Given the description of an element on the screen output the (x, y) to click on. 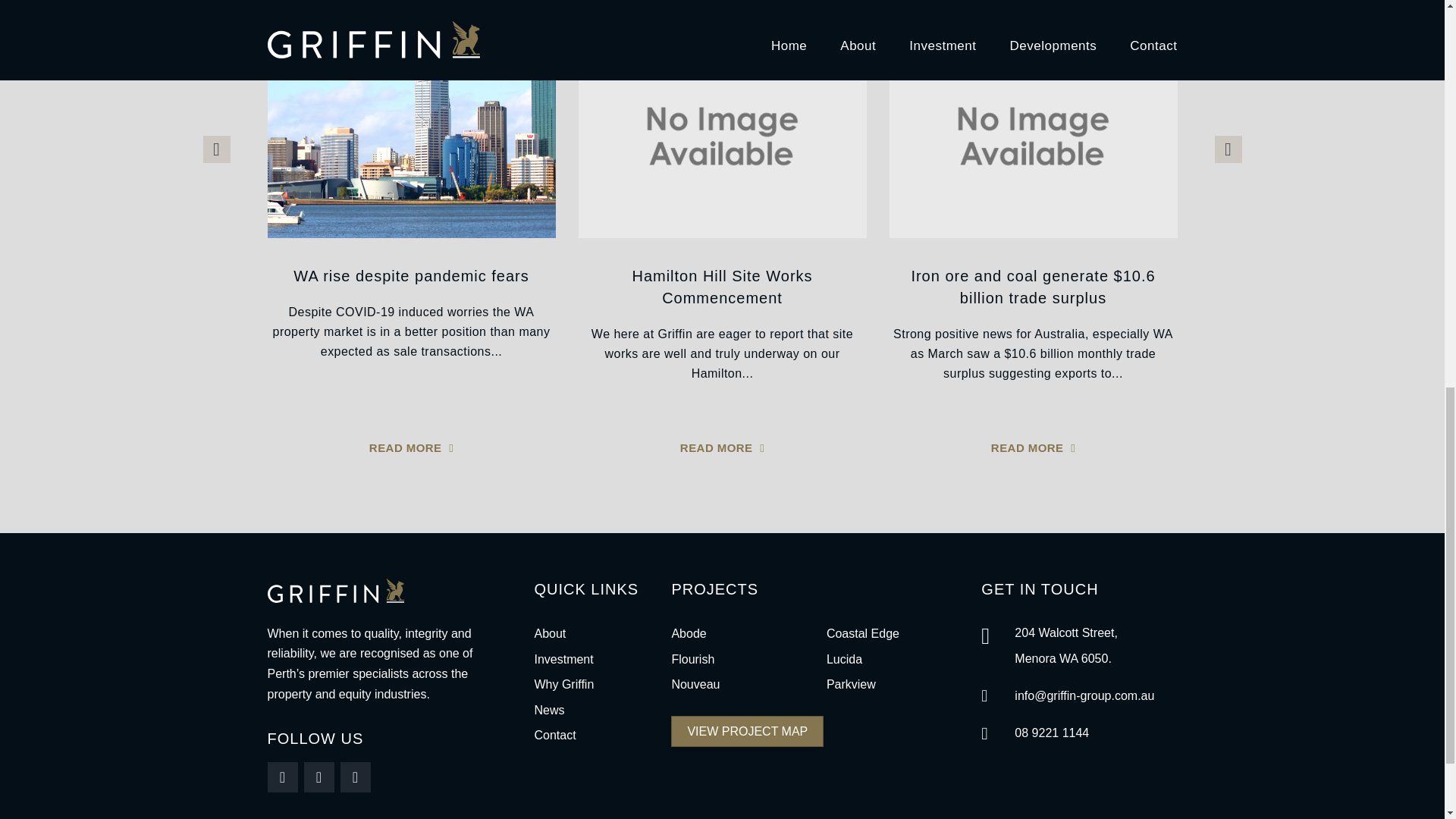
READ MORE (721, 447)
READ MORE (410, 447)
Previous (216, 148)
WA rise despite pandemic fears (411, 275)
READ MORE (1033, 447)
Hamilton Hill Site Works Commencement (721, 286)
